Given the description of an element on the screen output the (x, y) to click on. 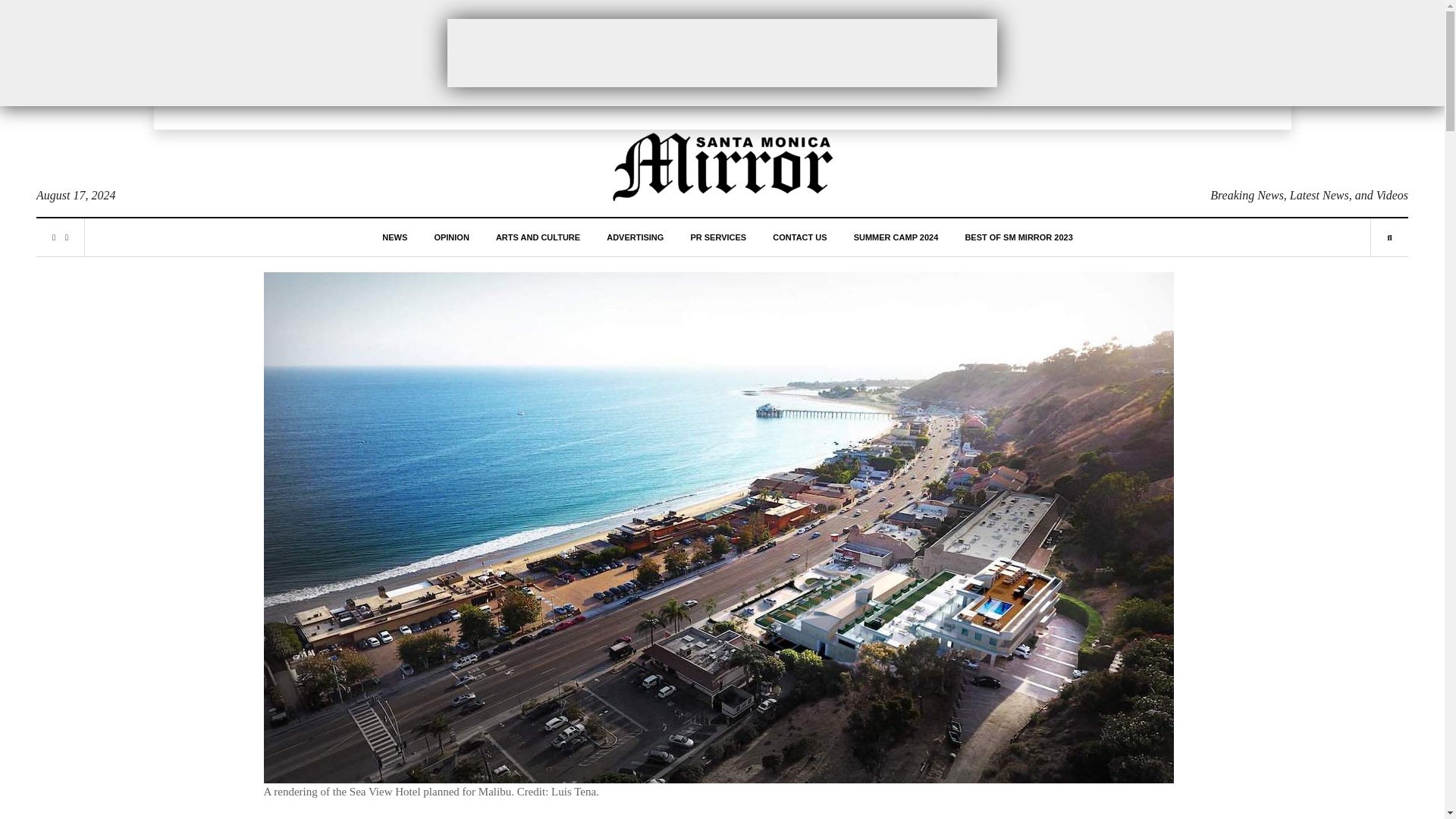
OPINION (450, 237)
3rd party ad content (721, 52)
ARTS AND CULTURE (537, 237)
SUMMER CAMP 2024 (896, 237)
CONTACT US (800, 237)
PR SERVICES (717, 237)
ADVERTISING (635, 237)
BEST OF SM MIRROR 2023 (1017, 237)
